Given the description of an element on the screen output the (x, y) to click on. 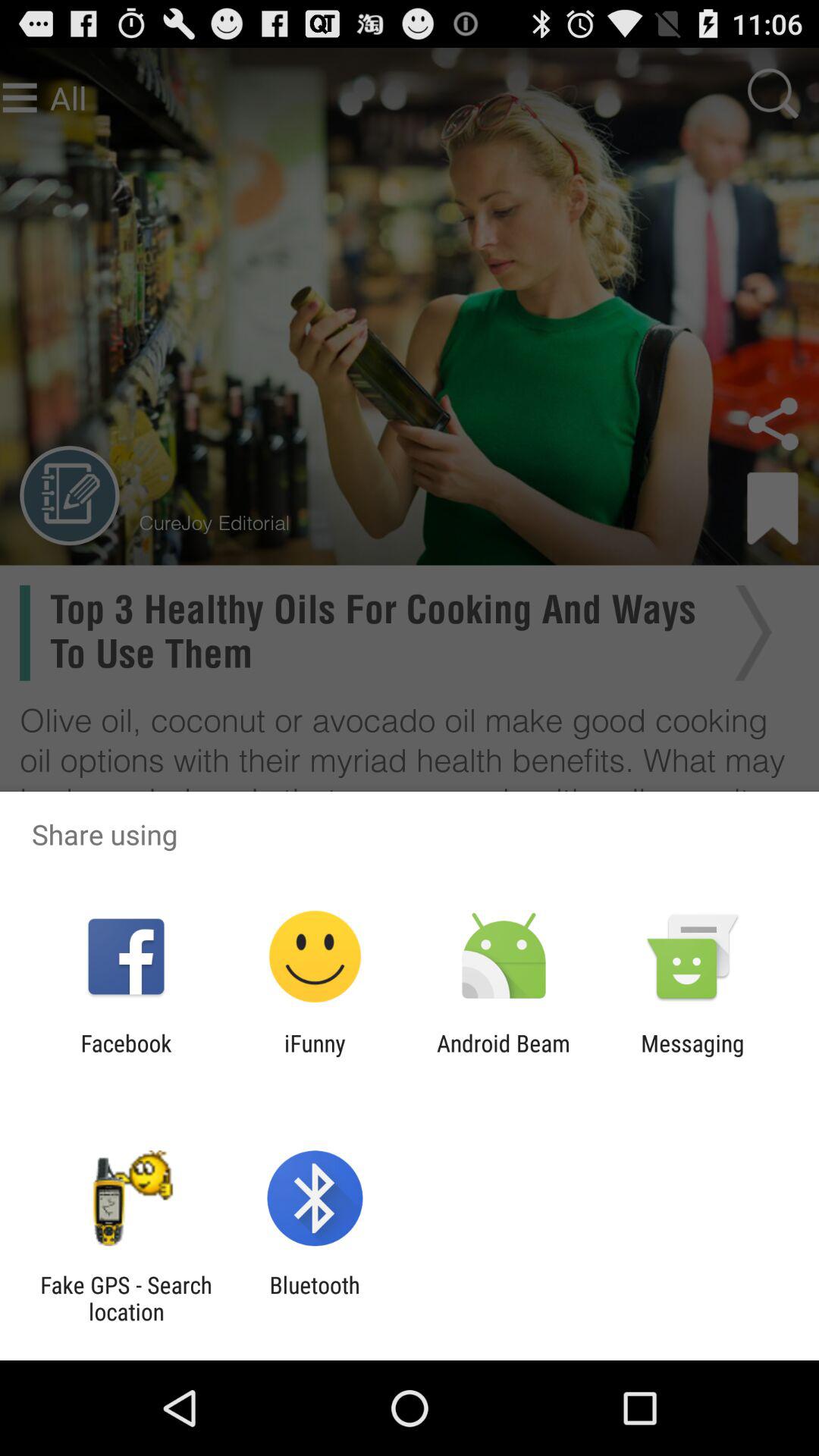
choose app to the left of the messaging (503, 1056)
